Given the description of an element on the screen output the (x, y) to click on. 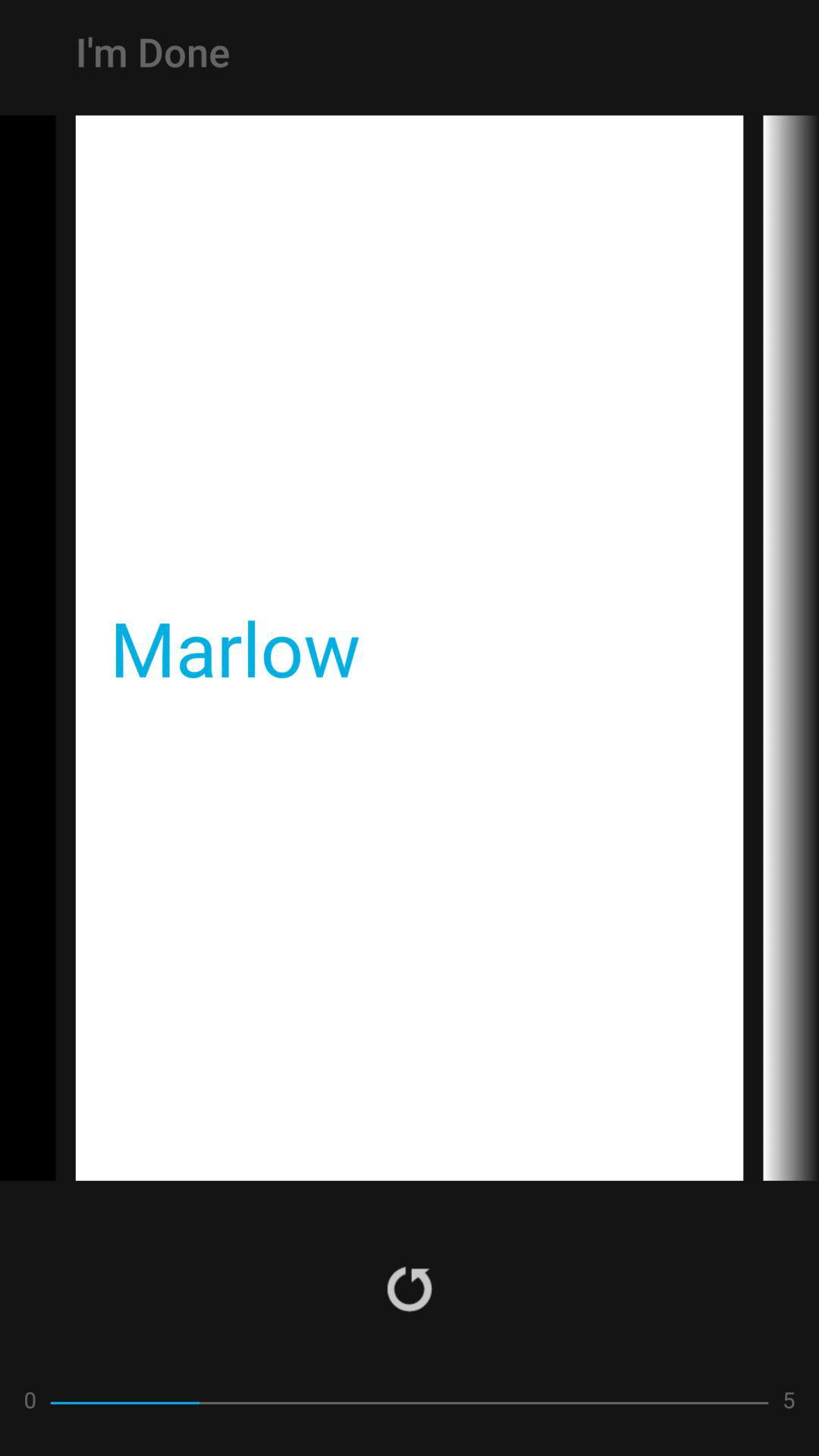
refresh (409, 1288)
